Given the description of an element on the screen output the (x, y) to click on. 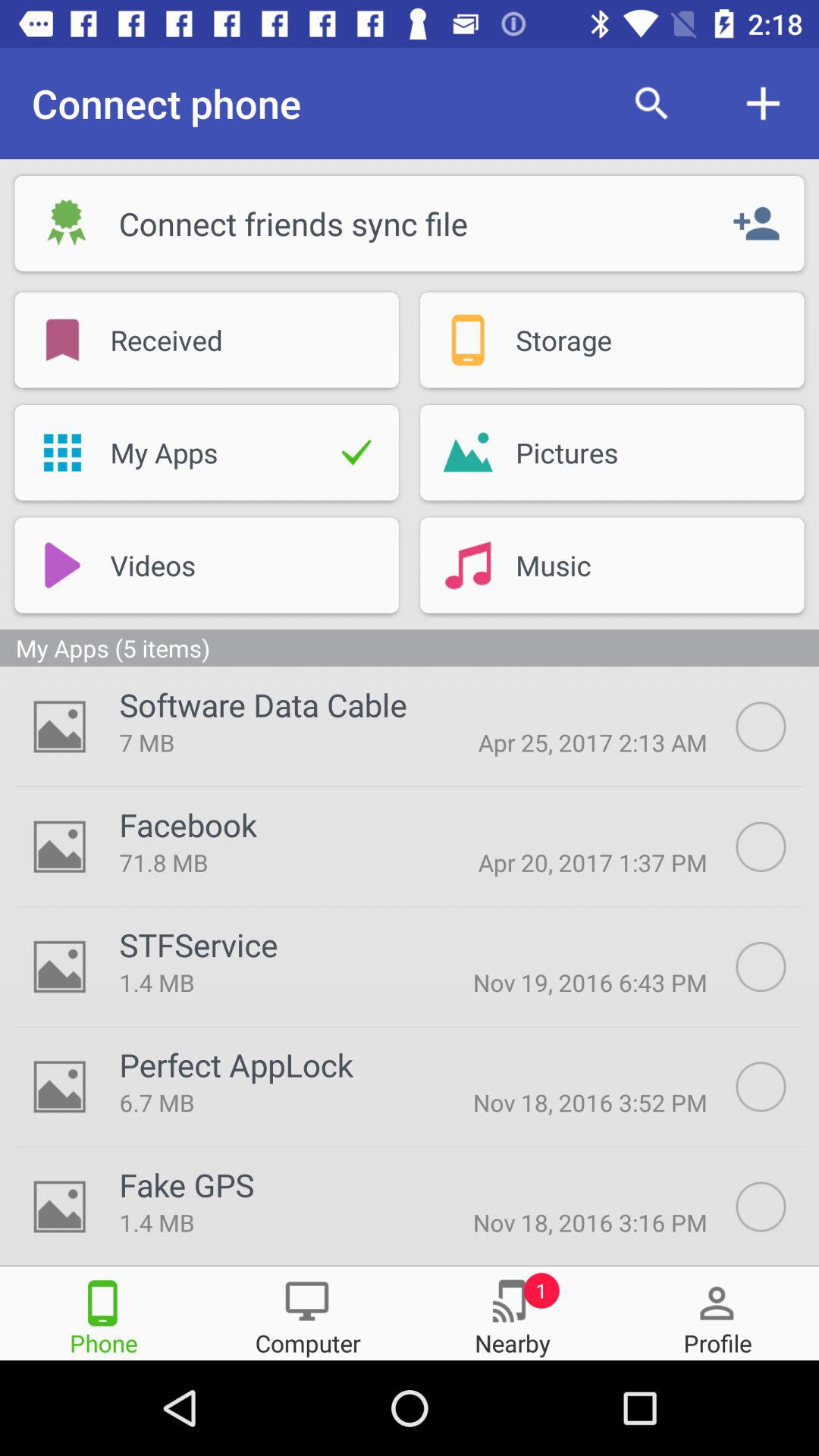
select the app to the left of my apps icon (62, 452)
